Given the description of an element on the screen output the (x, y) to click on. 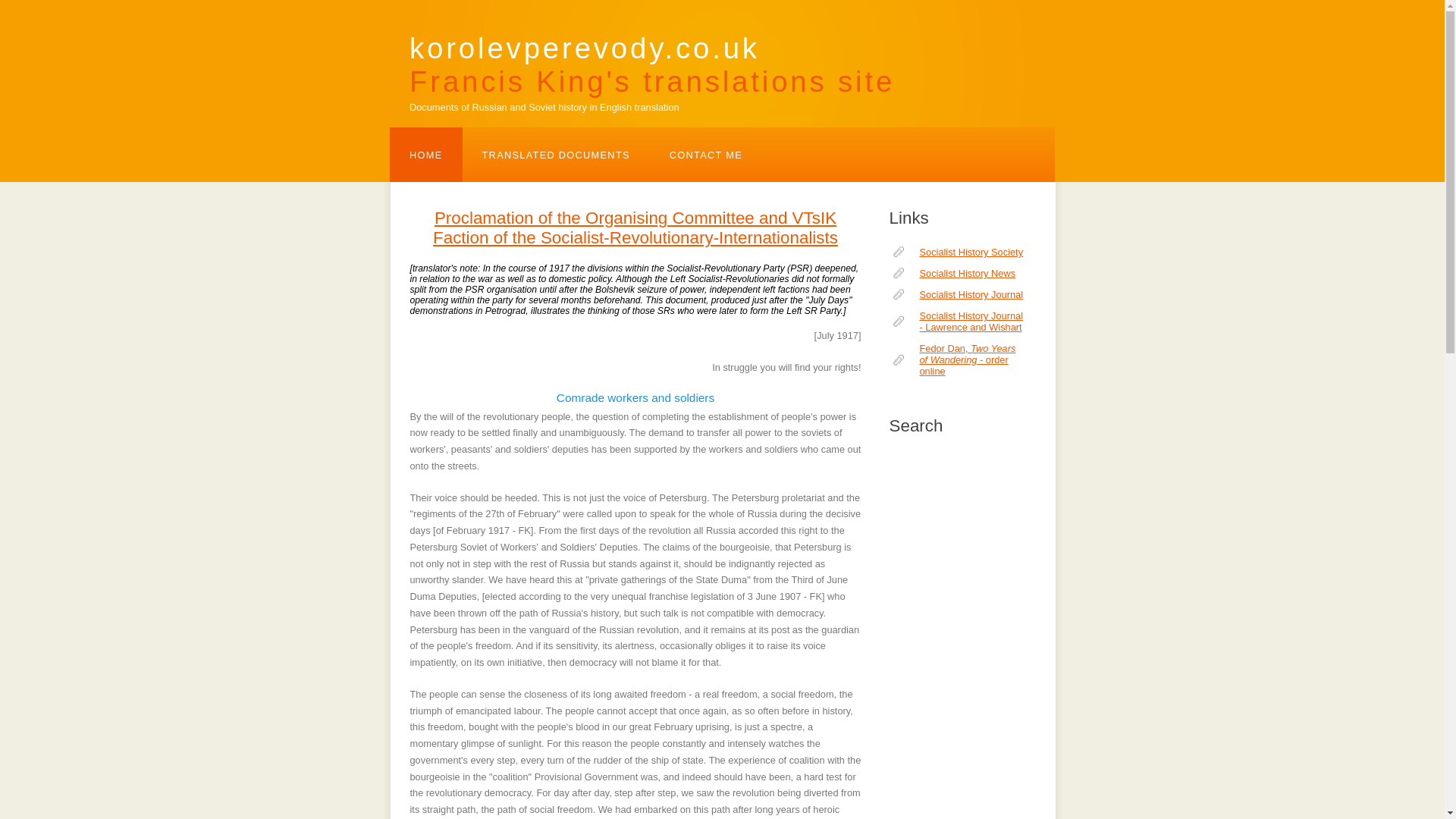
Socialist History Journal - Lawrence and Wishart (955, 321)
Socialist History News (955, 273)
Fedor Dan, Two Years of Wandering - order online (955, 359)
HOME (426, 154)
CONTACT ME (652, 56)
TRANSLATED DOCUMENTS (705, 154)
Socialist History Journal (556, 154)
Socialist History Society (955, 294)
